Given the description of an element on the screen output the (x, y) to click on. 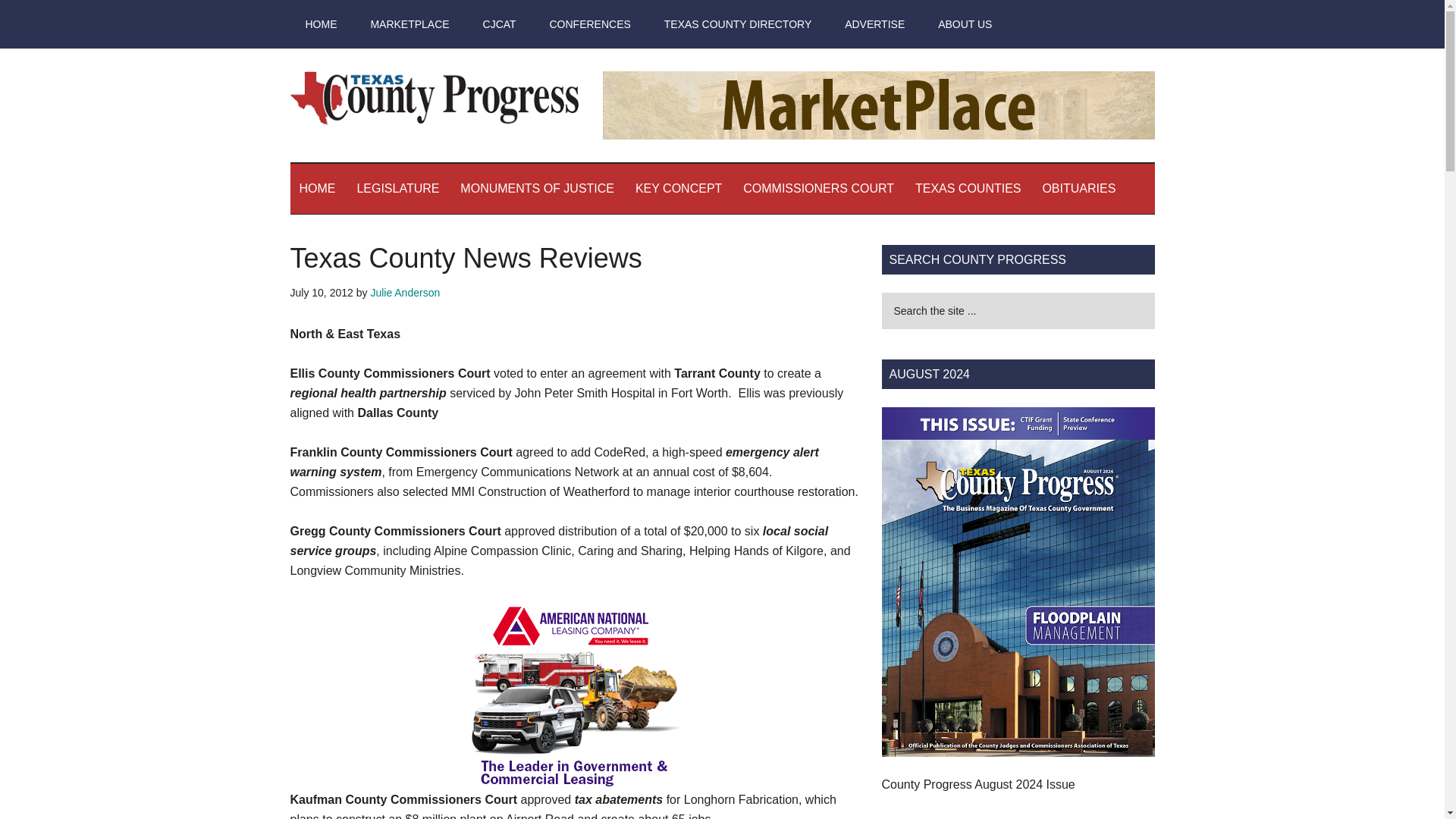
MARKETPLACE (409, 24)
HOME (320, 24)
ADVERTISE (874, 24)
TEXAS COUNTY DIRECTORY (738, 24)
CONFERENCES (589, 24)
ABOUT US (965, 24)
HOME (316, 188)
